Given the description of an element on the screen output the (x, y) to click on. 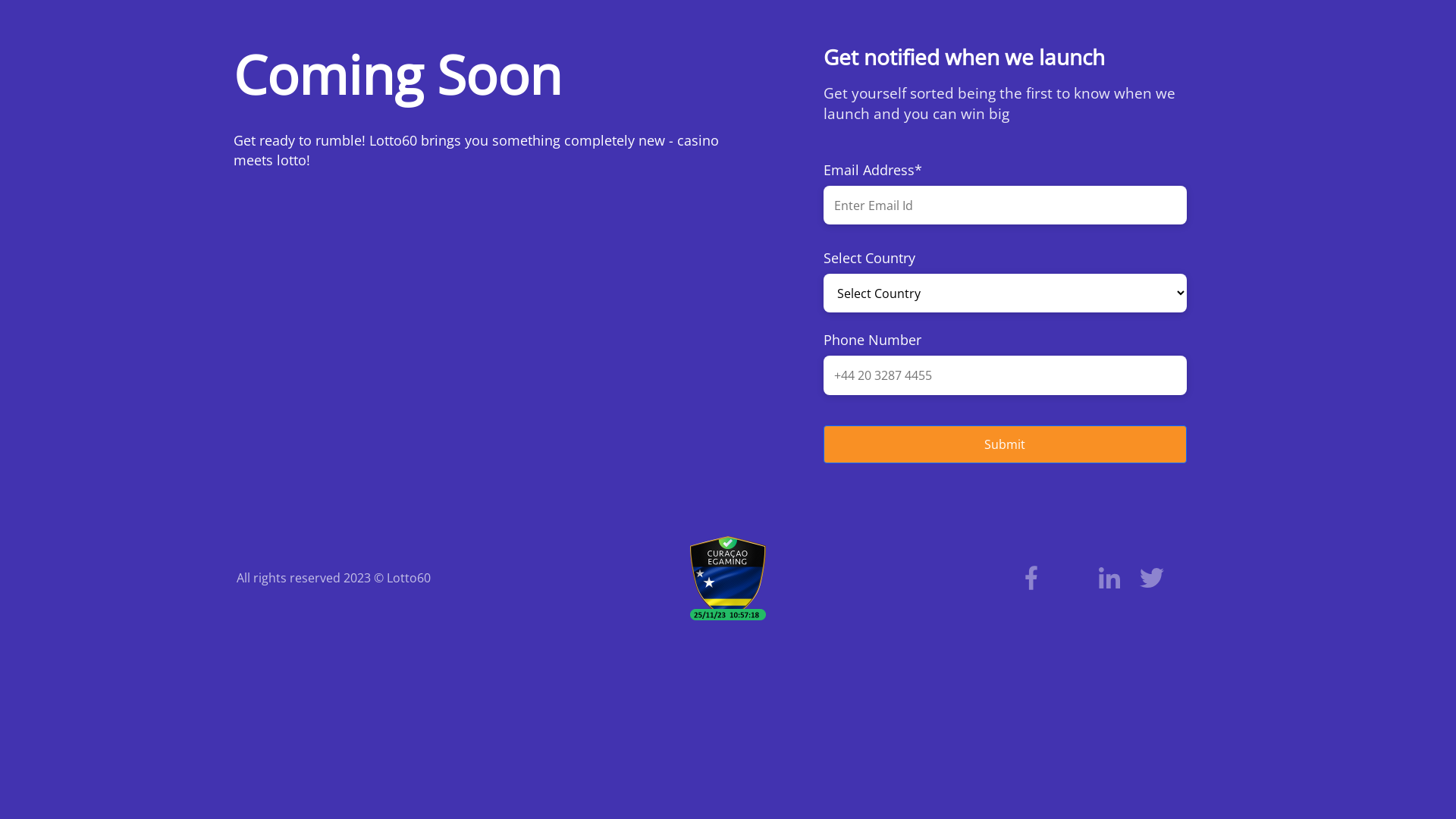
Submit Element type: text (1004, 444)
